Given the description of an element on the screen output the (x, y) to click on. 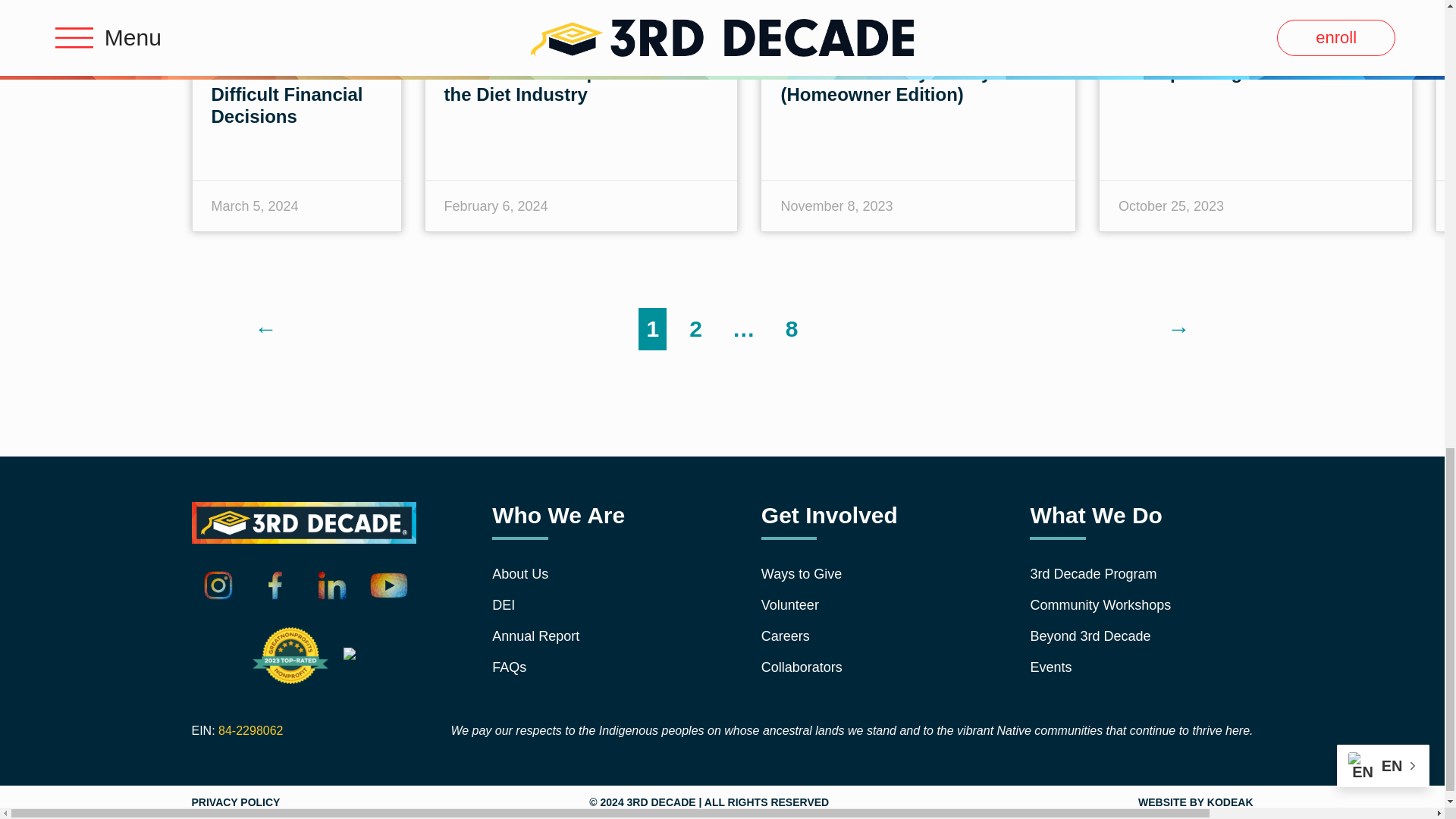
About Us (580, 574)
Prenuptual Agreements (1220, 72)
How To Make Difficult Financial Decisions (286, 94)
Annual Report (580, 636)
The Financial Implications of the Diet Industry (569, 83)
DEI (580, 605)
